Given the description of an element on the screen output the (x, y) to click on. 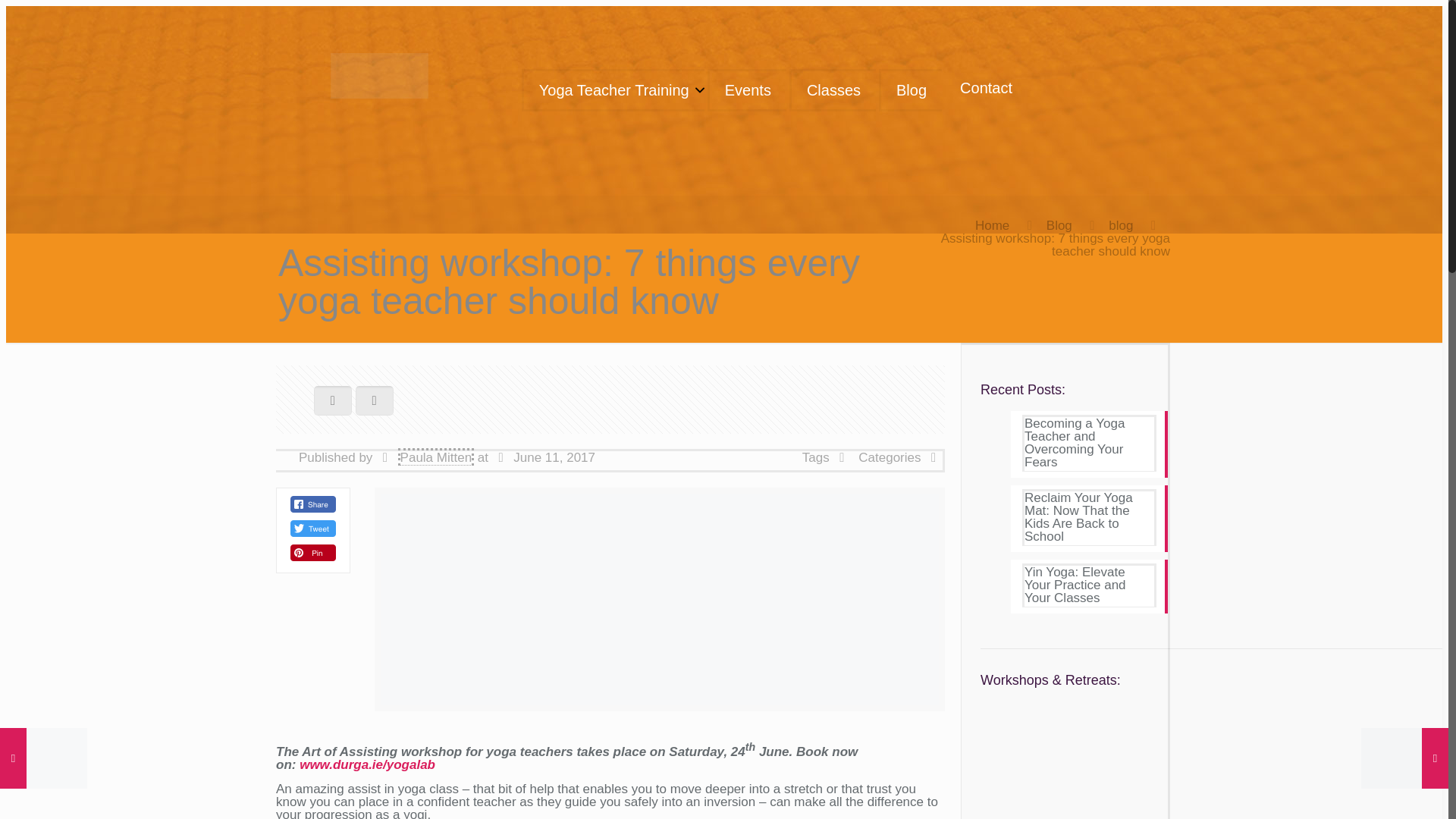
Durga Yoga Ireland (379, 74)
Paula Mitten (435, 456)
Classes (832, 89)
Blog (1058, 225)
Home (992, 225)
Yoga Teacher Training (612, 89)
Blog (910, 89)
Contact (985, 87)
Events (746, 89)
blog (1120, 225)
